Given the description of an element on the screen output the (x, y) to click on. 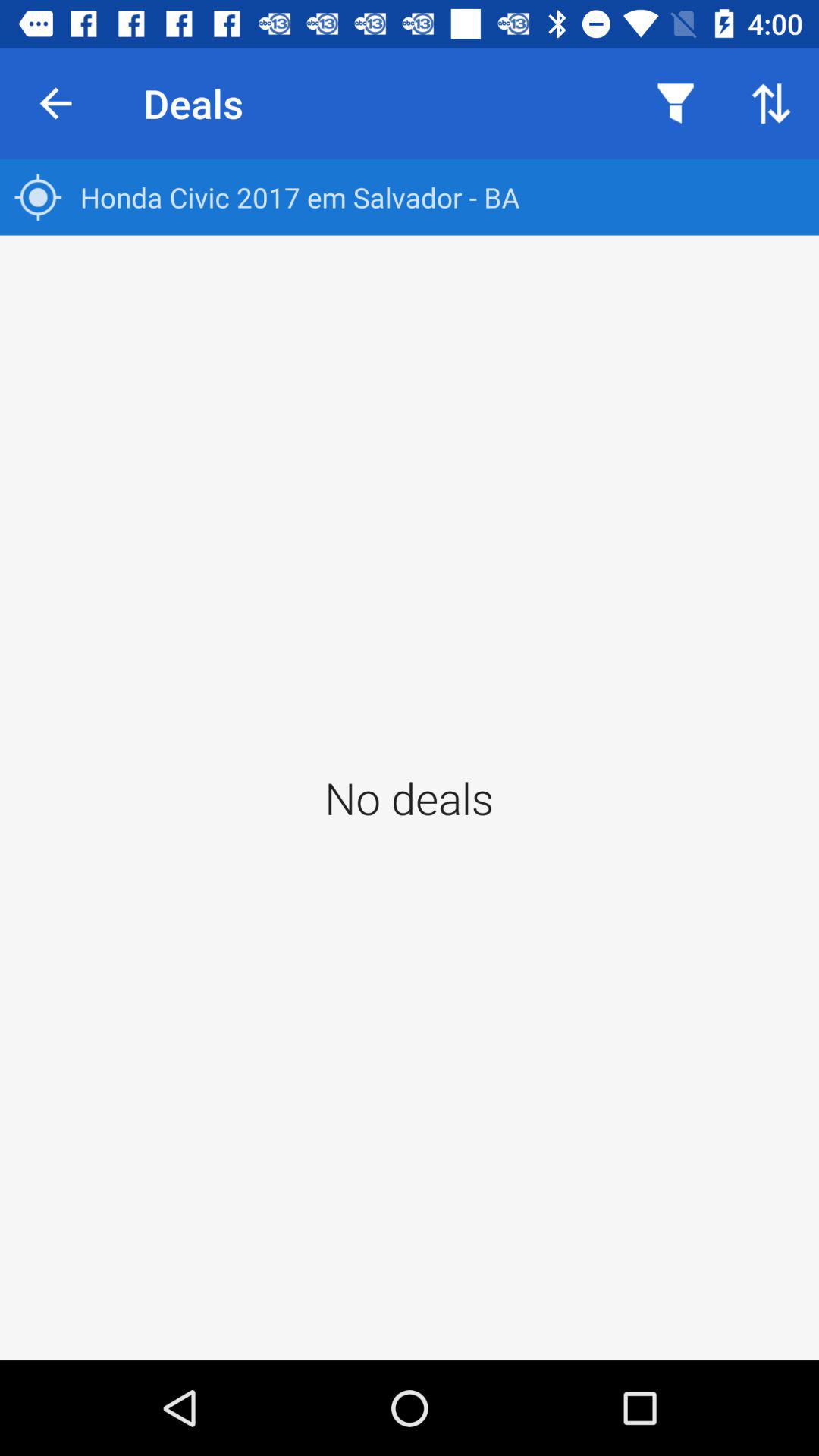
click item next to the deals icon (55, 103)
